Given the description of an element on the screen output the (x, y) to click on. 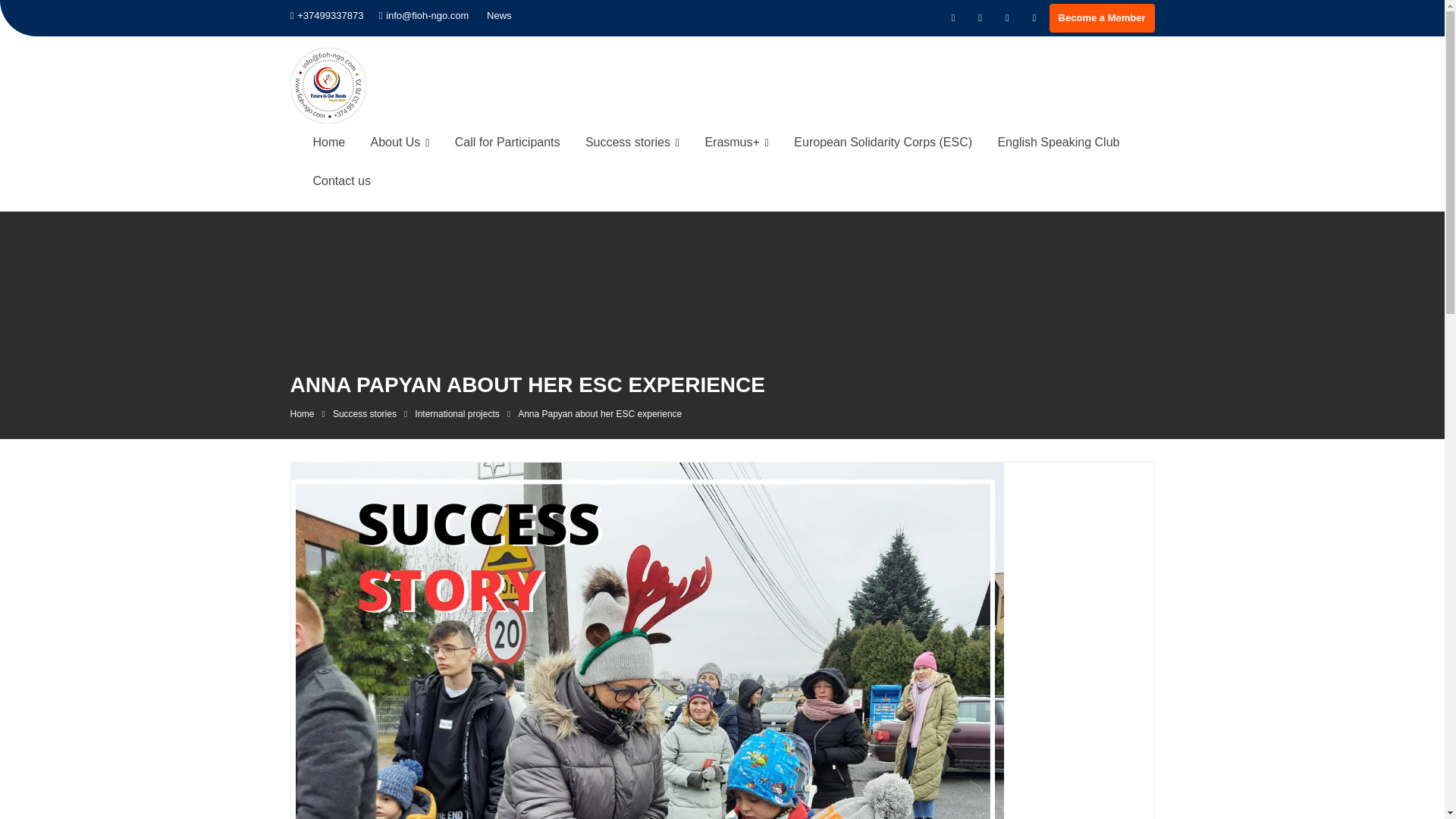
Twitter (980, 17)
Google Plus (1034, 17)
Contact us (341, 180)
English Speaking Club (1058, 142)
Youtube (1006, 17)
Success stories (364, 413)
Call for Participants (508, 142)
About Us (400, 142)
International projects (456, 413)
Home (328, 142)
